Given the description of an element on the screen output the (x, y) to click on. 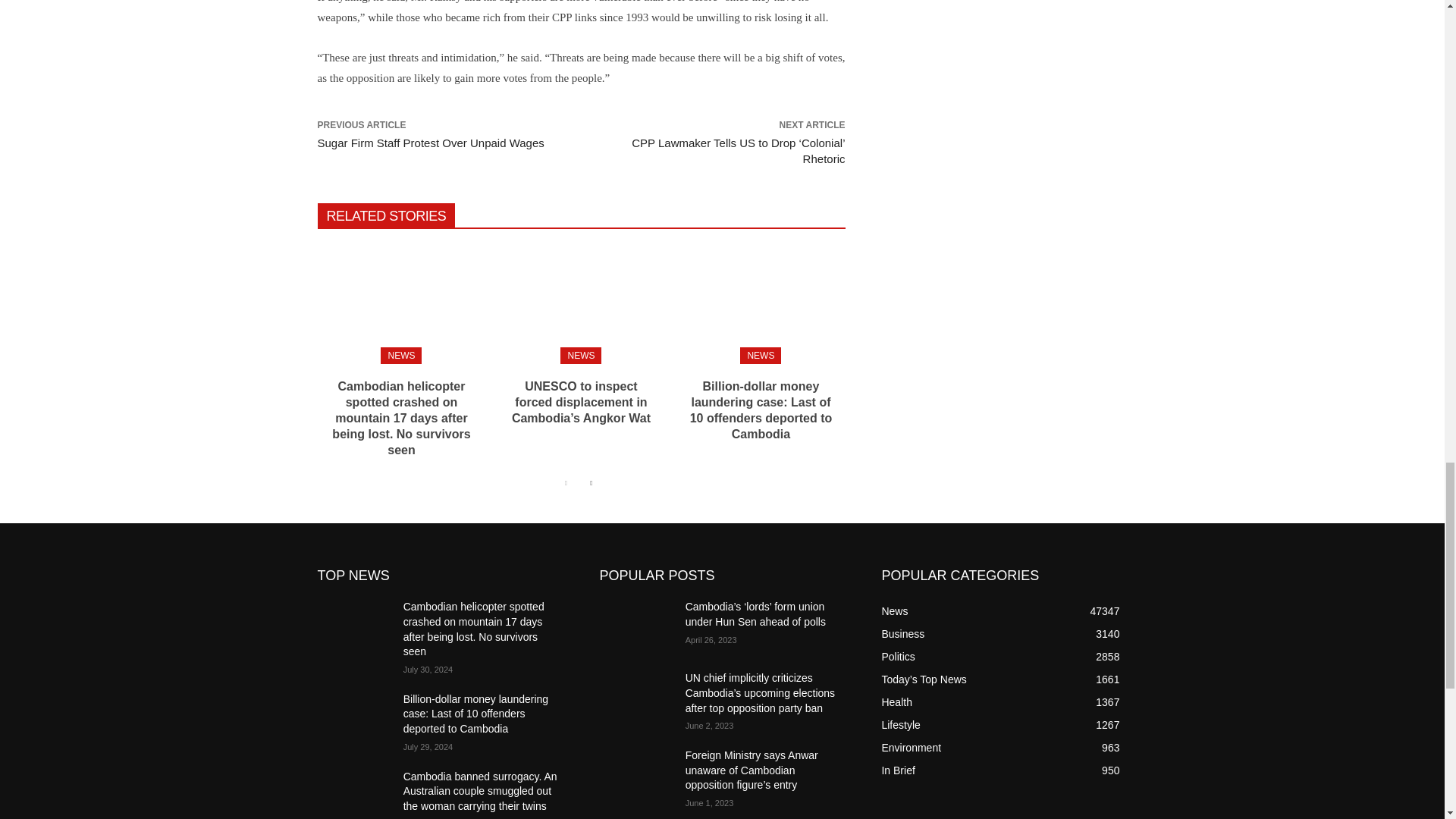
NEWS (580, 355)
NEWS (759, 355)
Sugar Firm Staff Protest Over Unpaid Wages (430, 142)
NEWS (401, 355)
